Given the description of an element on the screen output the (x, y) to click on. 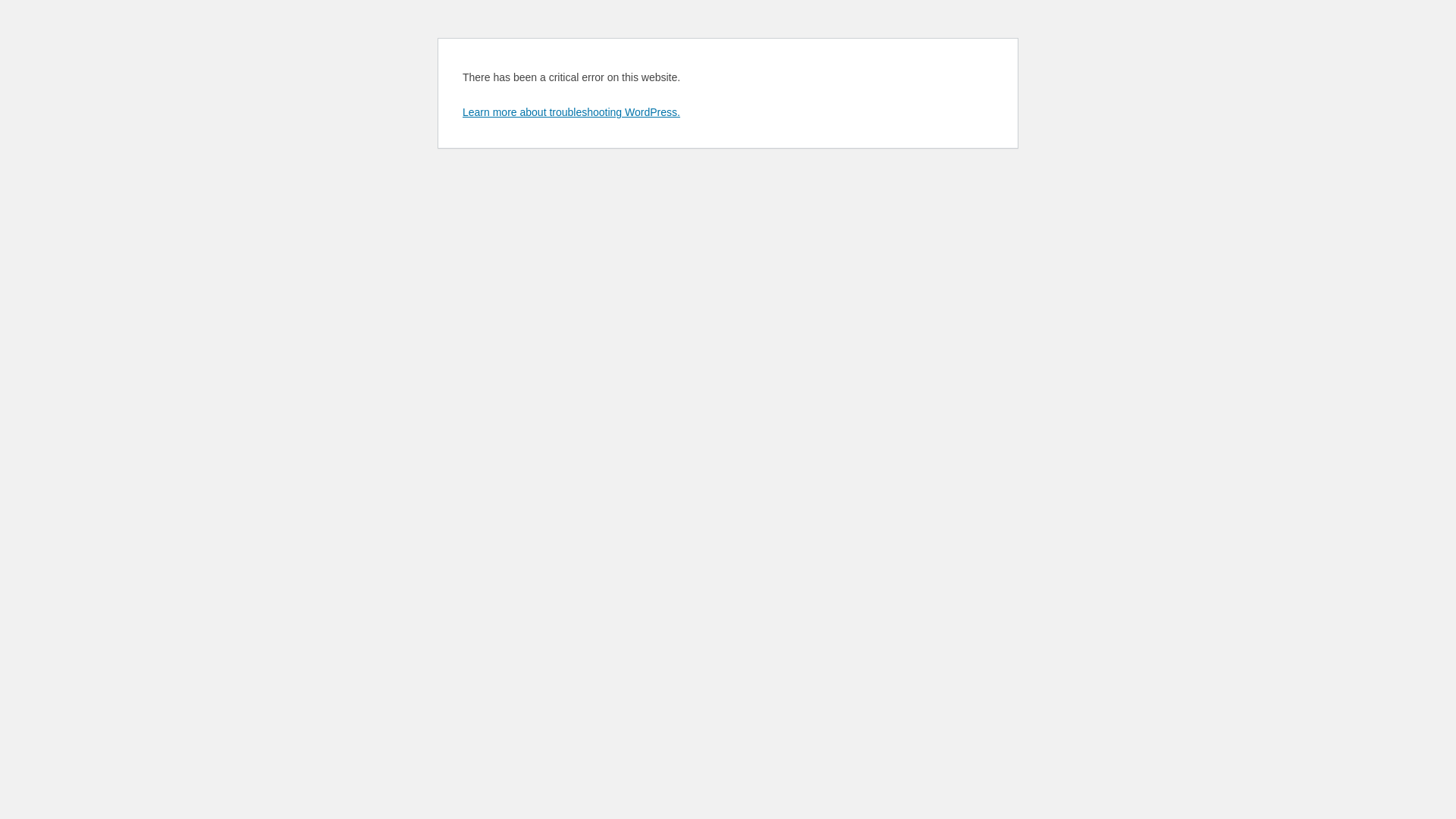
Learn more about troubleshooting WordPress. Element type: text (571, 112)
